Given the description of an element on the screen output the (x, y) to click on. 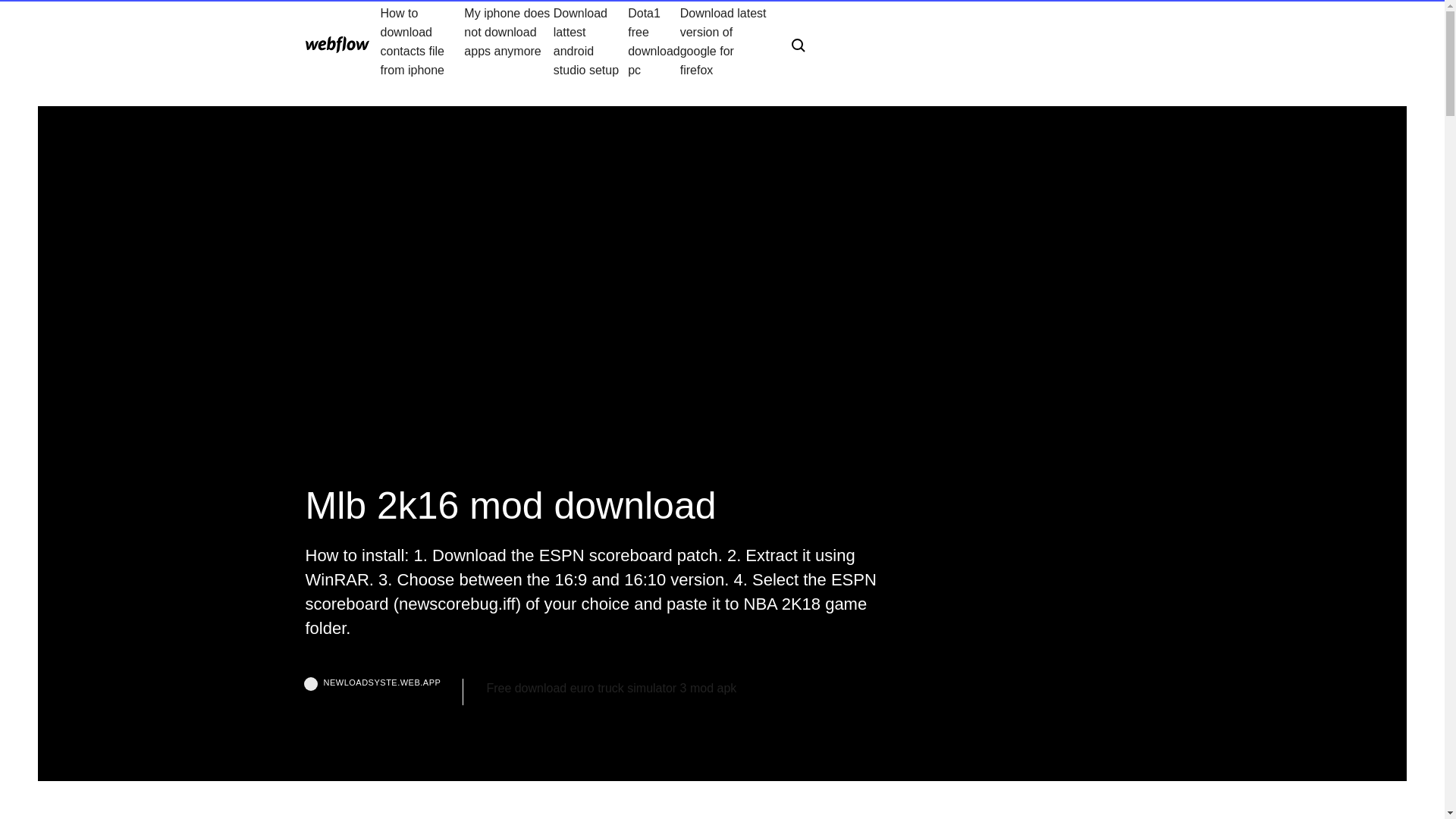
How to download contacts file from iphone (422, 41)
NEWLOADSYSTE.WEB.APP (383, 691)
Download lattest android studio setup (590, 41)
Free download euro truck simulator 3 mod apk (611, 687)
My iphone does not download apps anymore (508, 41)
Download latest version of google for firefox (723, 41)
